Given the description of an element on the screen output the (x, y) to click on. 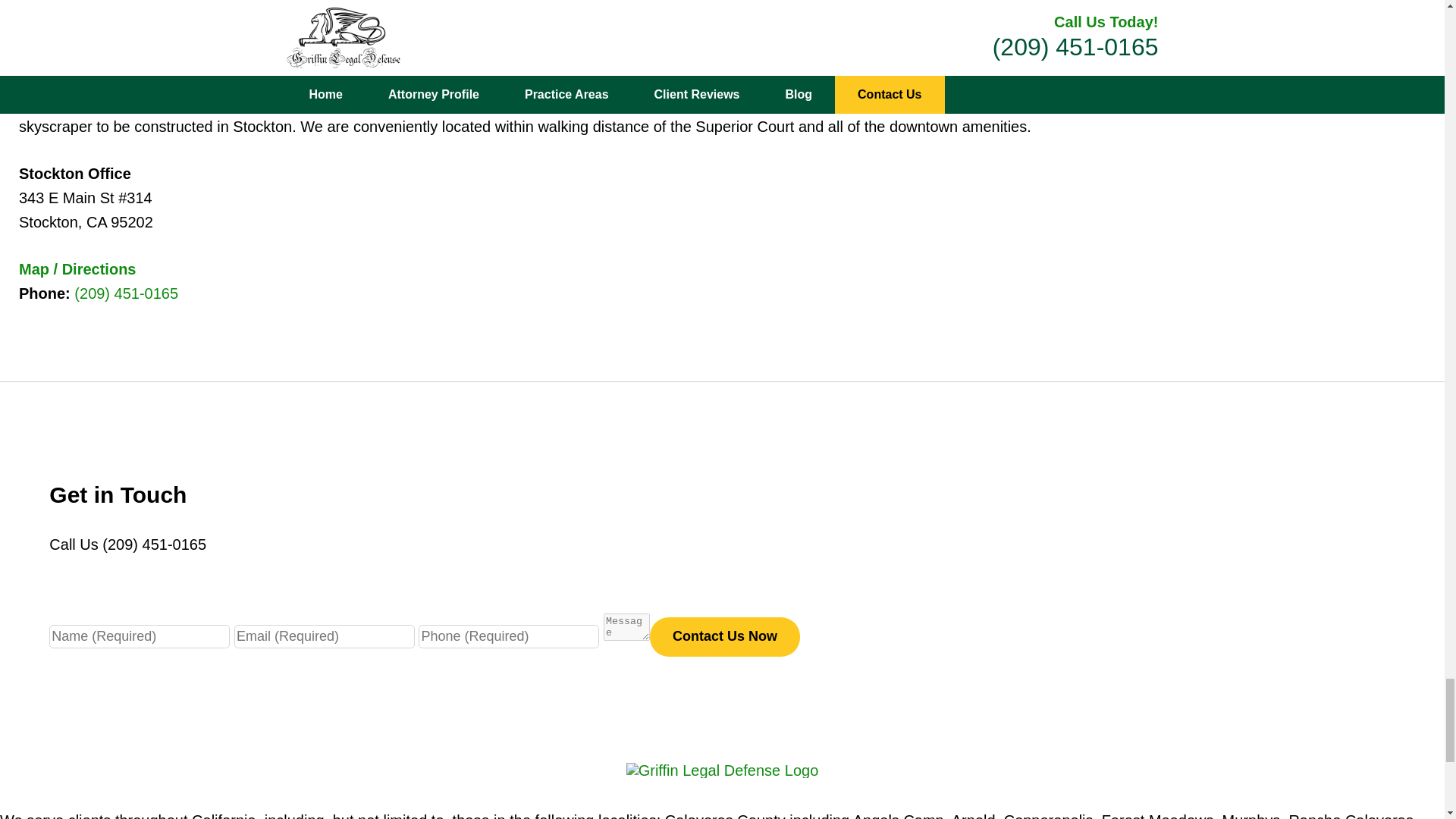
Contact Us Now (724, 636)
